Given the description of an element on the screen output the (x, y) to click on. 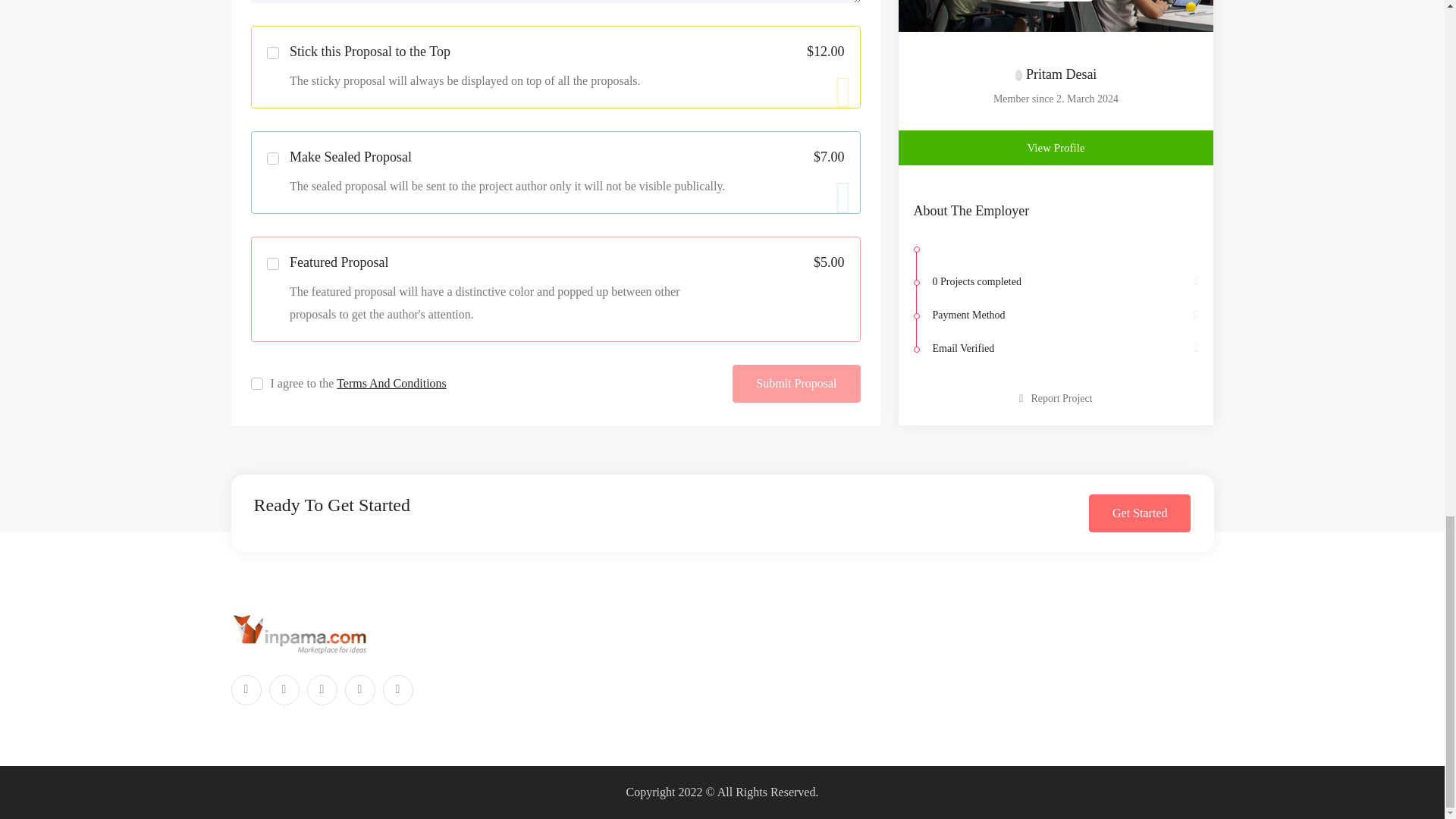
Terms And Conditions (391, 382)
Get Started (1140, 513)
Submit Proposal (796, 383)
